Given the description of an element on the screen output the (x, y) to click on. 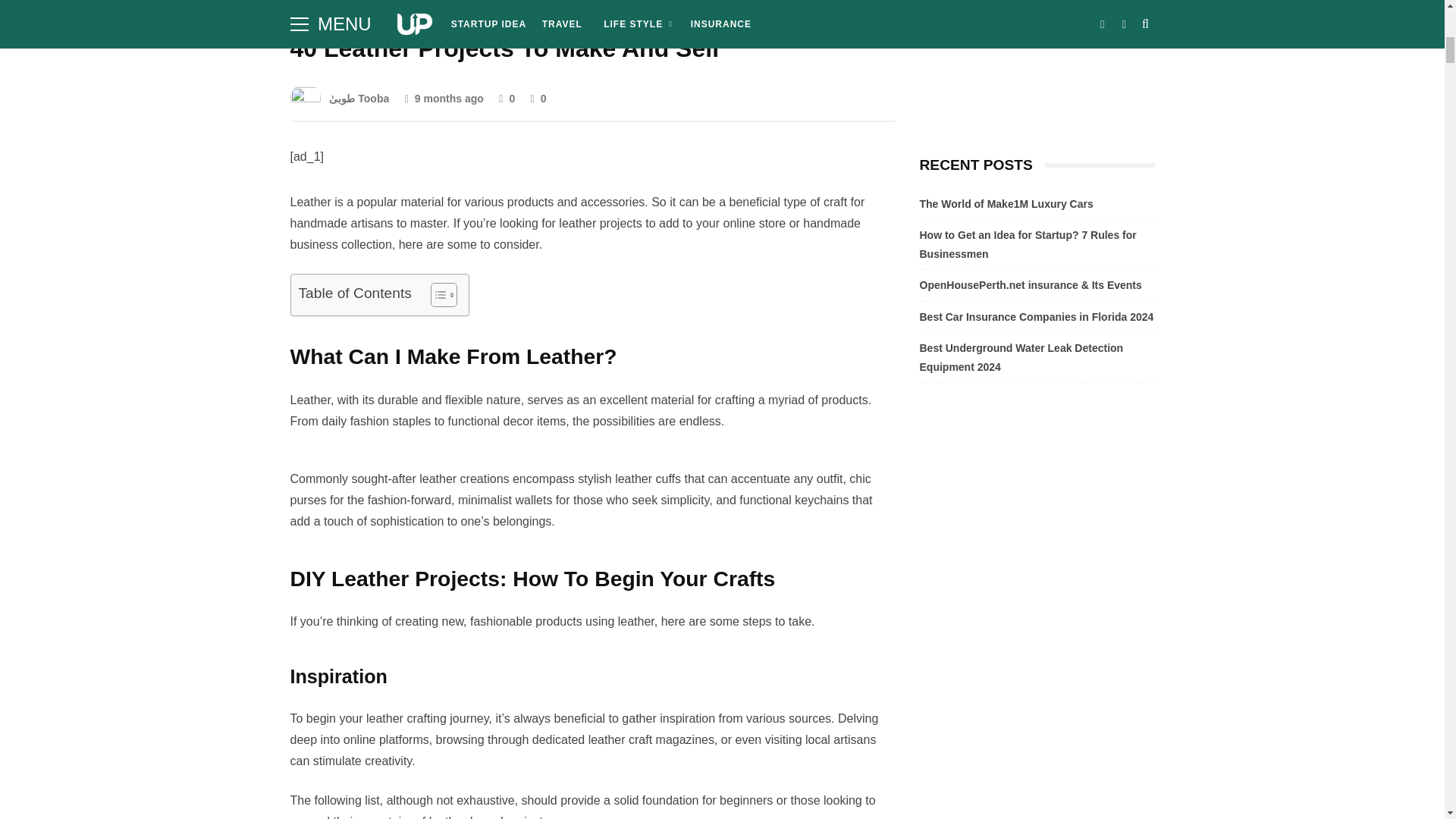
STARTUP (321, 6)
Scroll To Top (1422, 20)
0 (507, 98)
